Given the description of an element on the screen output the (x, y) to click on. 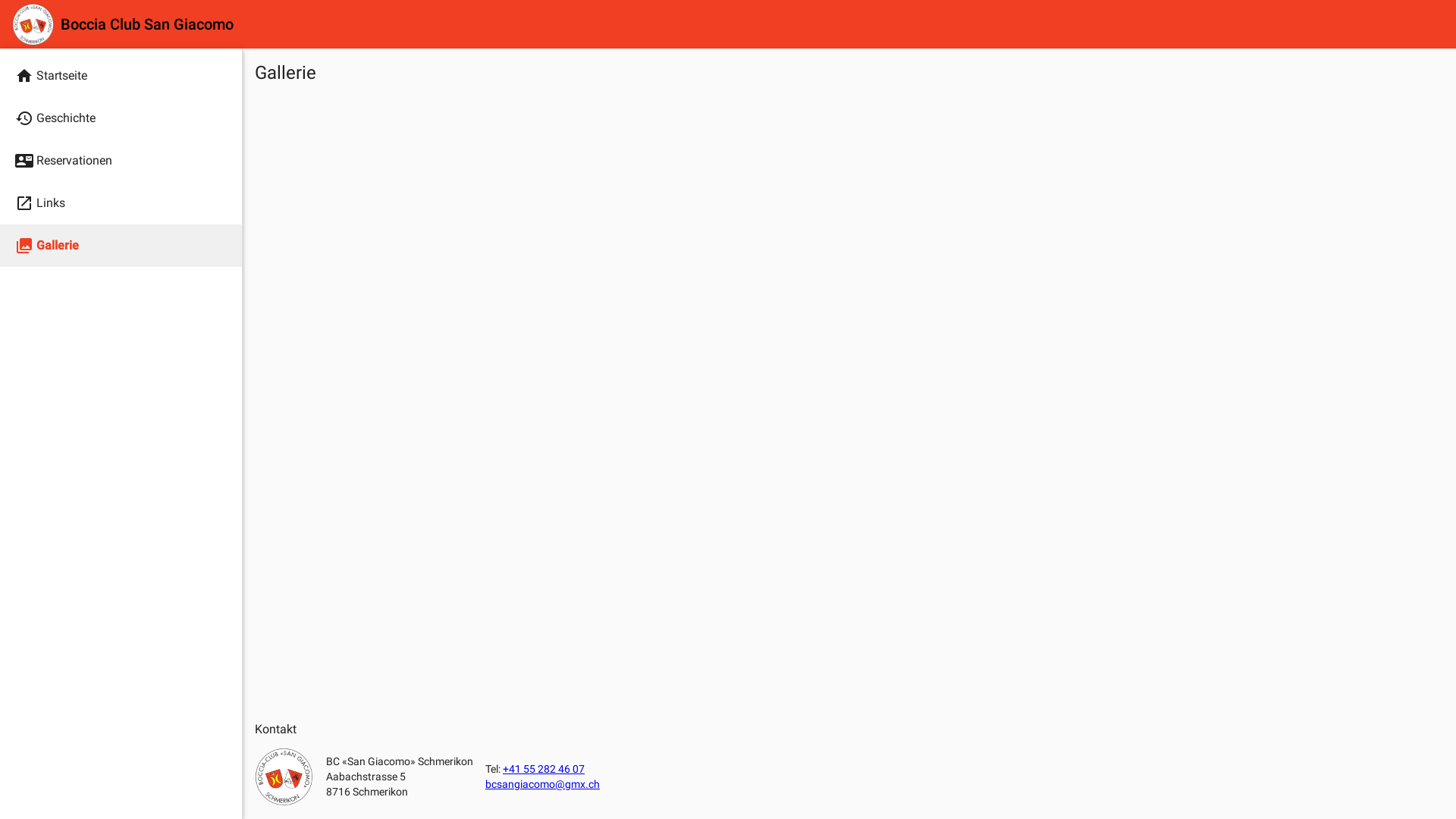
collections
Gallerie Element type: text (120, 245)
home
Startseite Element type: text (120, 75)
contact_mail
Reservationen Element type: text (120, 160)
open_in_new
Links Element type: text (120, 203)
+41 55 282 46 07 Element type: text (543, 768)
bcsangiacomo@gmx.ch Element type: text (542, 783)
history
Geschichte Element type: text (120, 118)
